Given the description of an element on the screen output the (x, y) to click on. 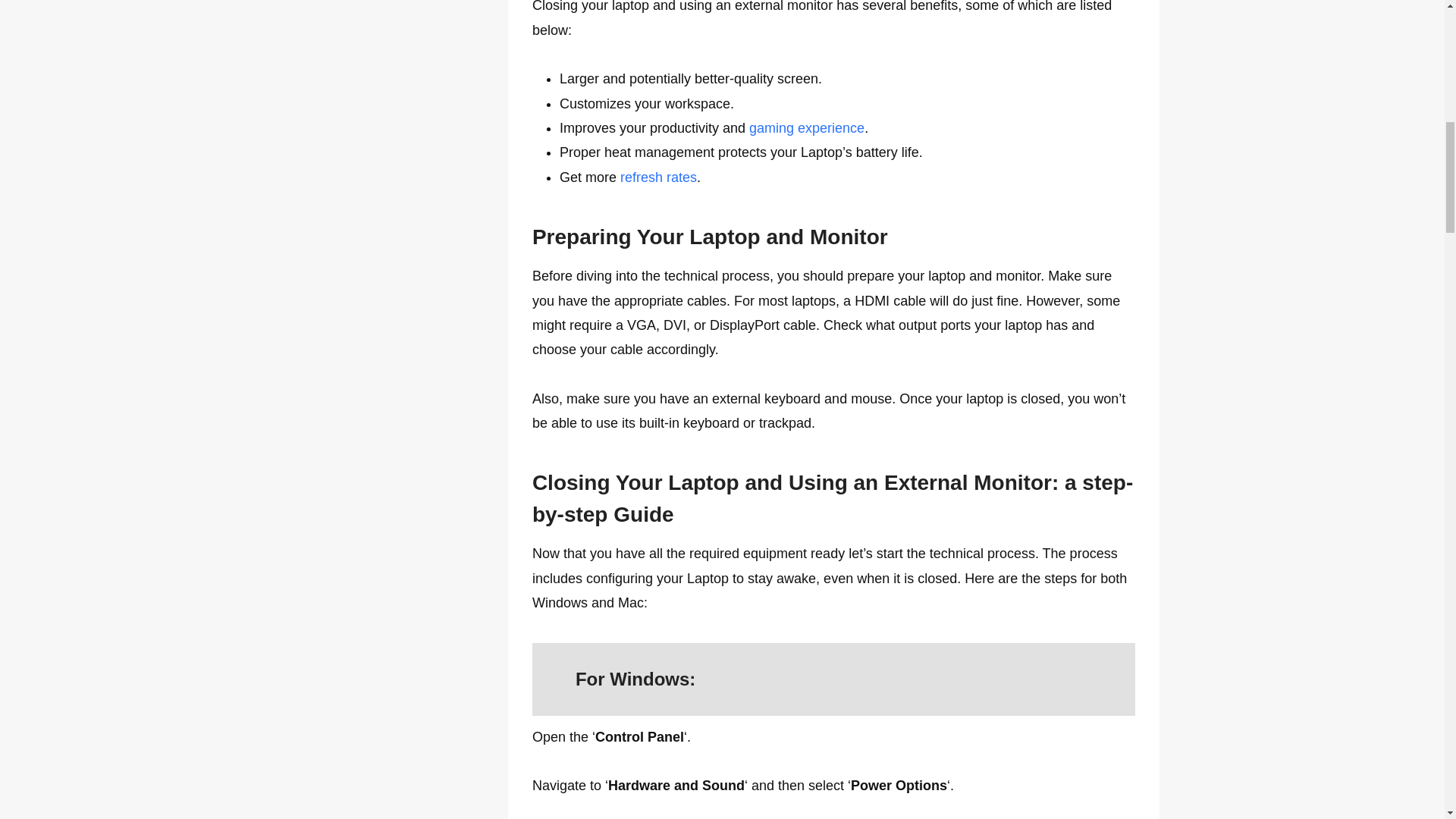
gaming experience (806, 127)
refresh rates (658, 177)
